Given the description of an element on the screen output the (x, y) to click on. 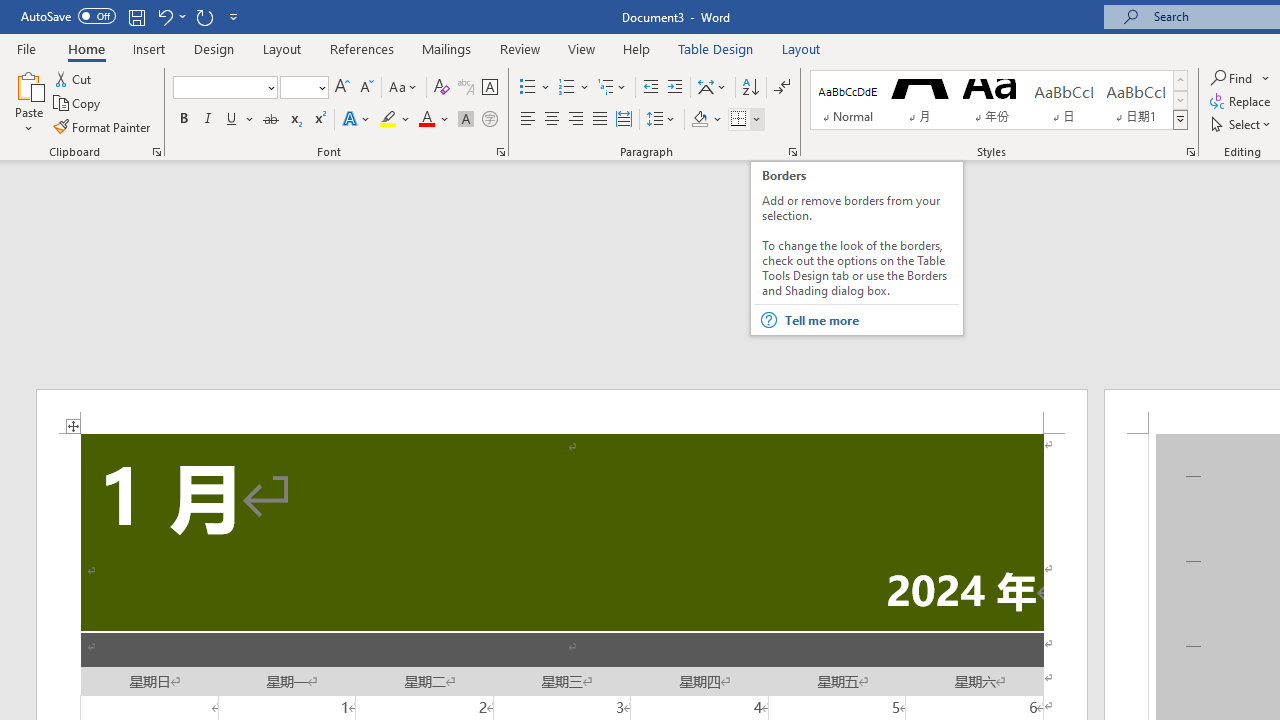
Shading (706, 119)
Superscript (319, 119)
Justify (599, 119)
Change Case (404, 87)
Show/Hide Editing Marks (781, 87)
Open (320, 87)
Subscript (294, 119)
Header -Section 1- (561, 411)
Clear Formatting (442, 87)
